Given the description of an element on the screen output the (x, y) to click on. 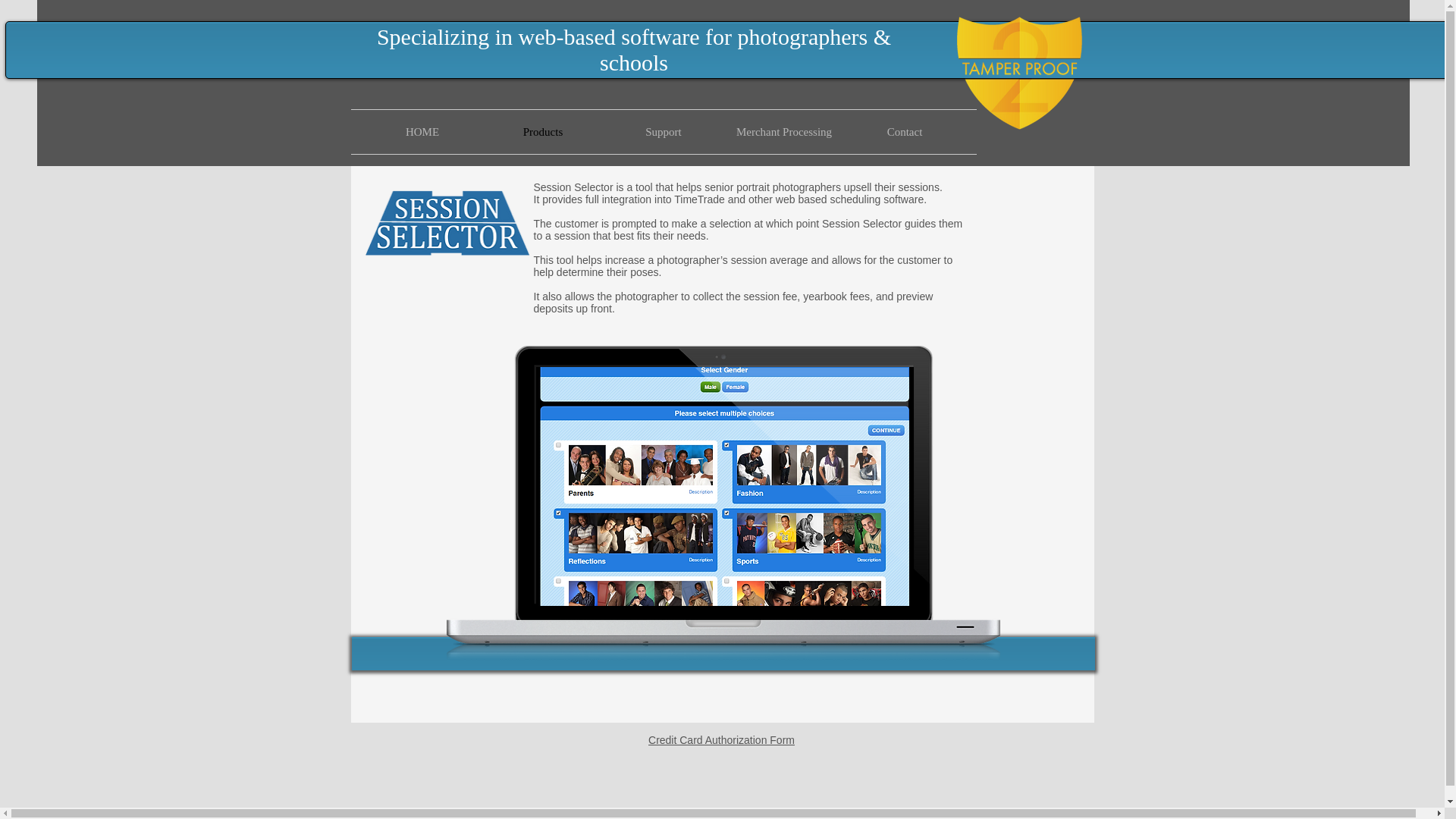
Contact (904, 131)
Credit Card Authorization Form (720, 739)
Support (663, 131)
Products (541, 131)
Merchant Processing (783, 131)
HOME (422, 131)
